Given the description of an element on the screen output the (x, y) to click on. 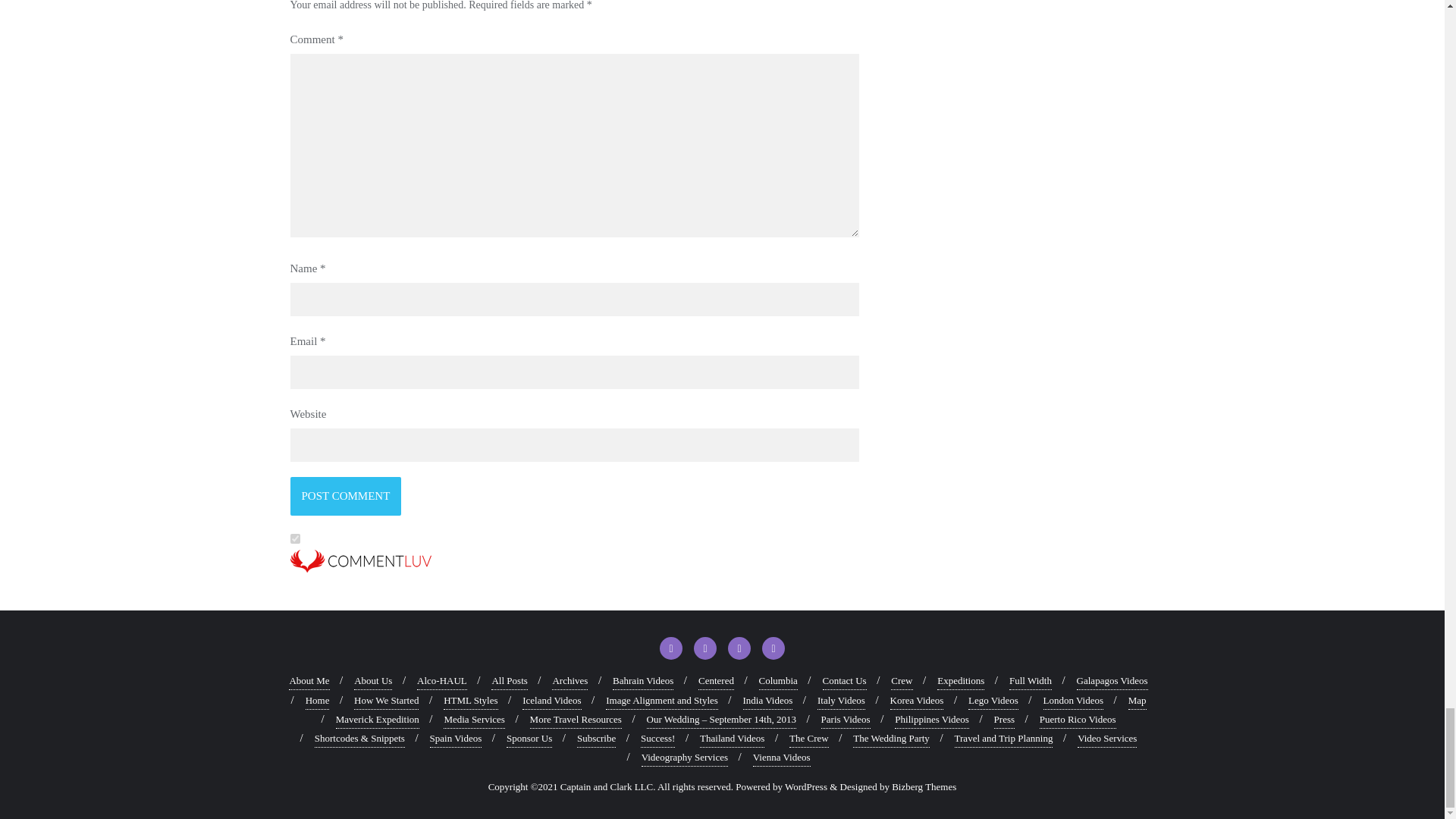
CommentLuv is enabled (574, 568)
on (294, 538)
Post Comment (345, 495)
